Given the description of an element on the screen output the (x, y) to click on. 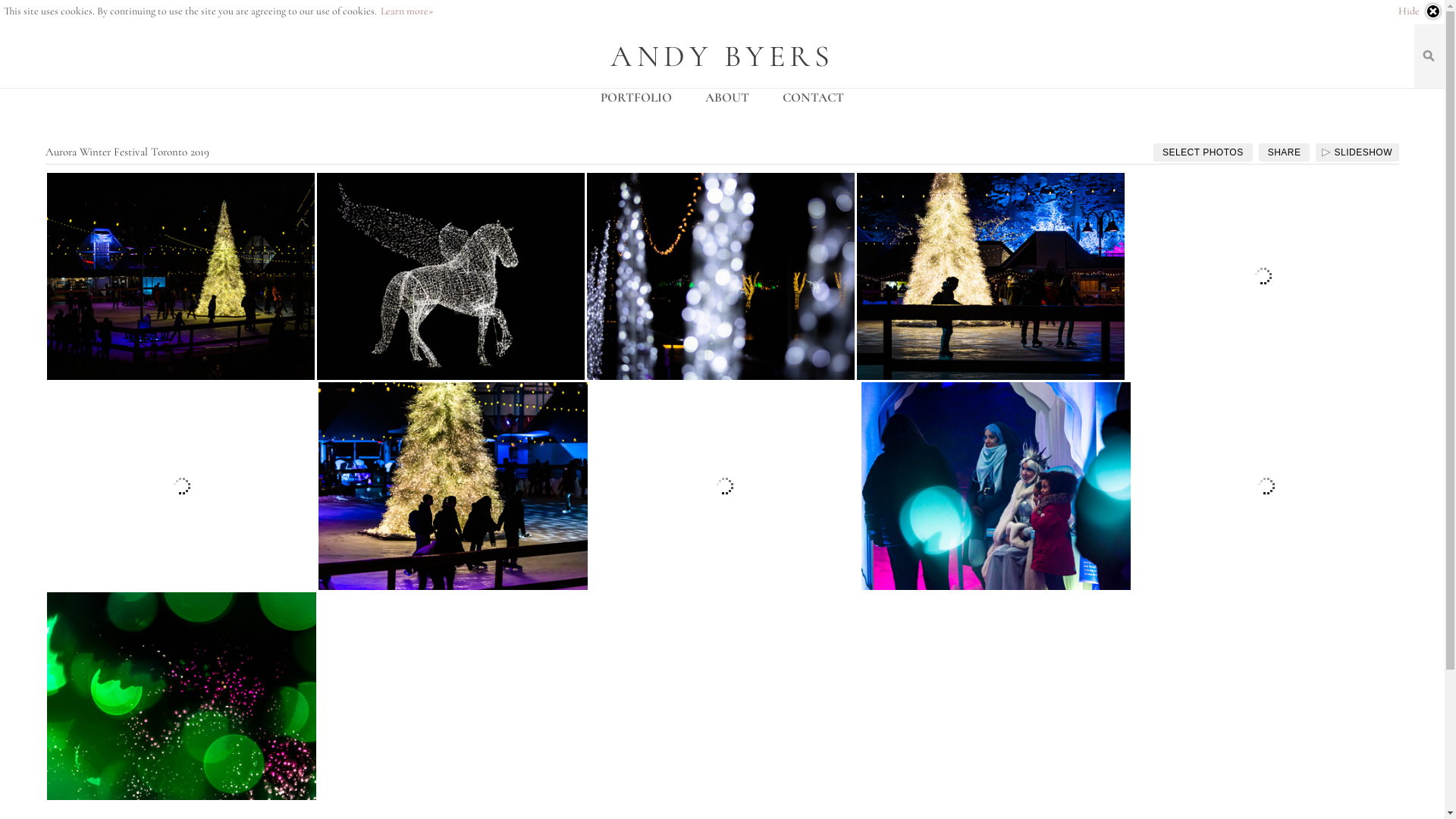
Hide Element type: text (1420, 11)
ANDY BYERS Element type: text (721, 54)
CONTACT Element type: text (813, 97)
PORTFOLIO Element type: text (636, 97)
ABOUT Element type: text (727, 97)
